Given the description of an element on the screen output the (x, y) to click on. 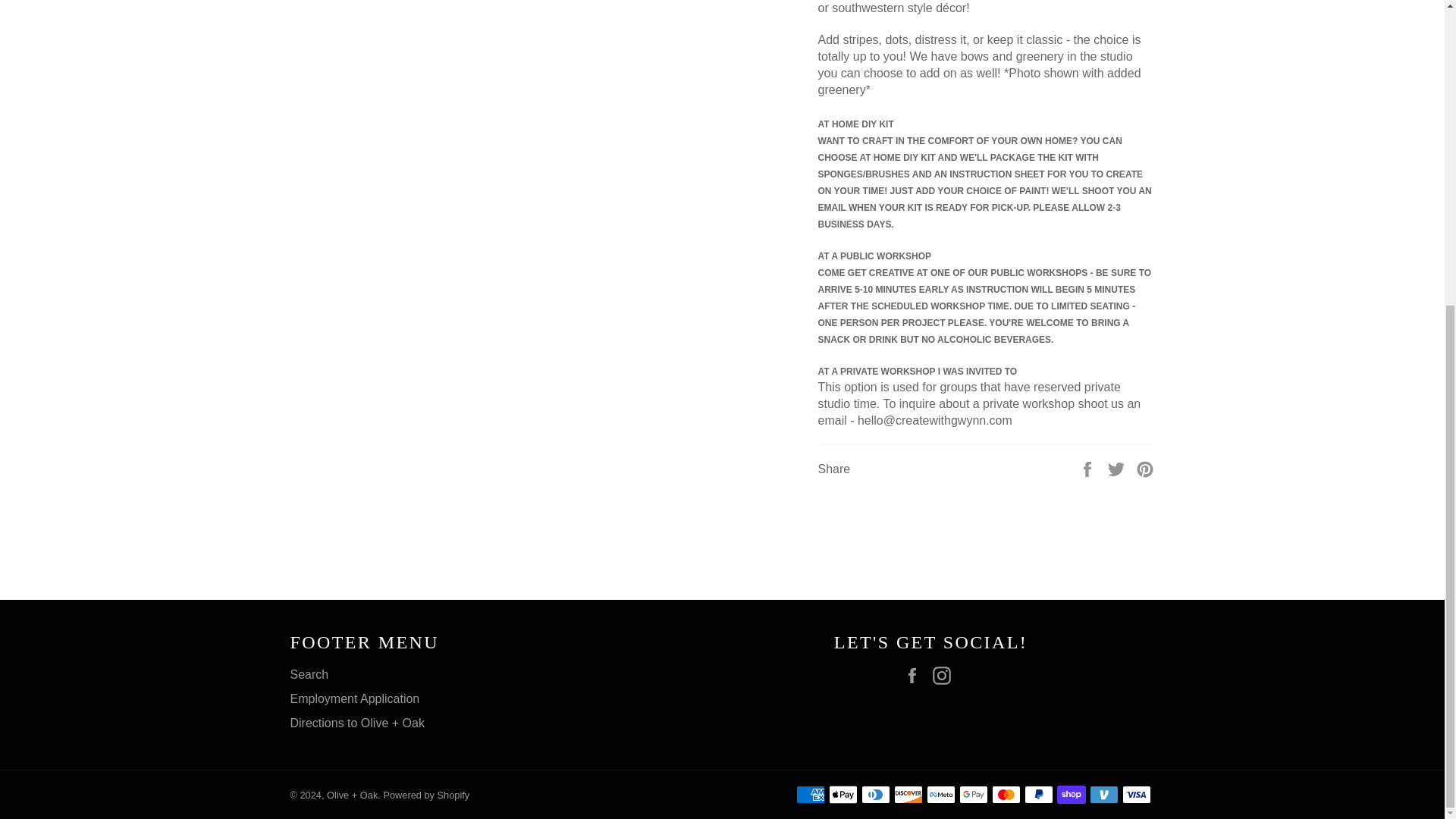
Tweet on Twitter (1117, 468)
Share on Facebook (1088, 468)
Pin on Pinterest (1144, 468)
